Given the description of an element on the screen output the (x, y) to click on. 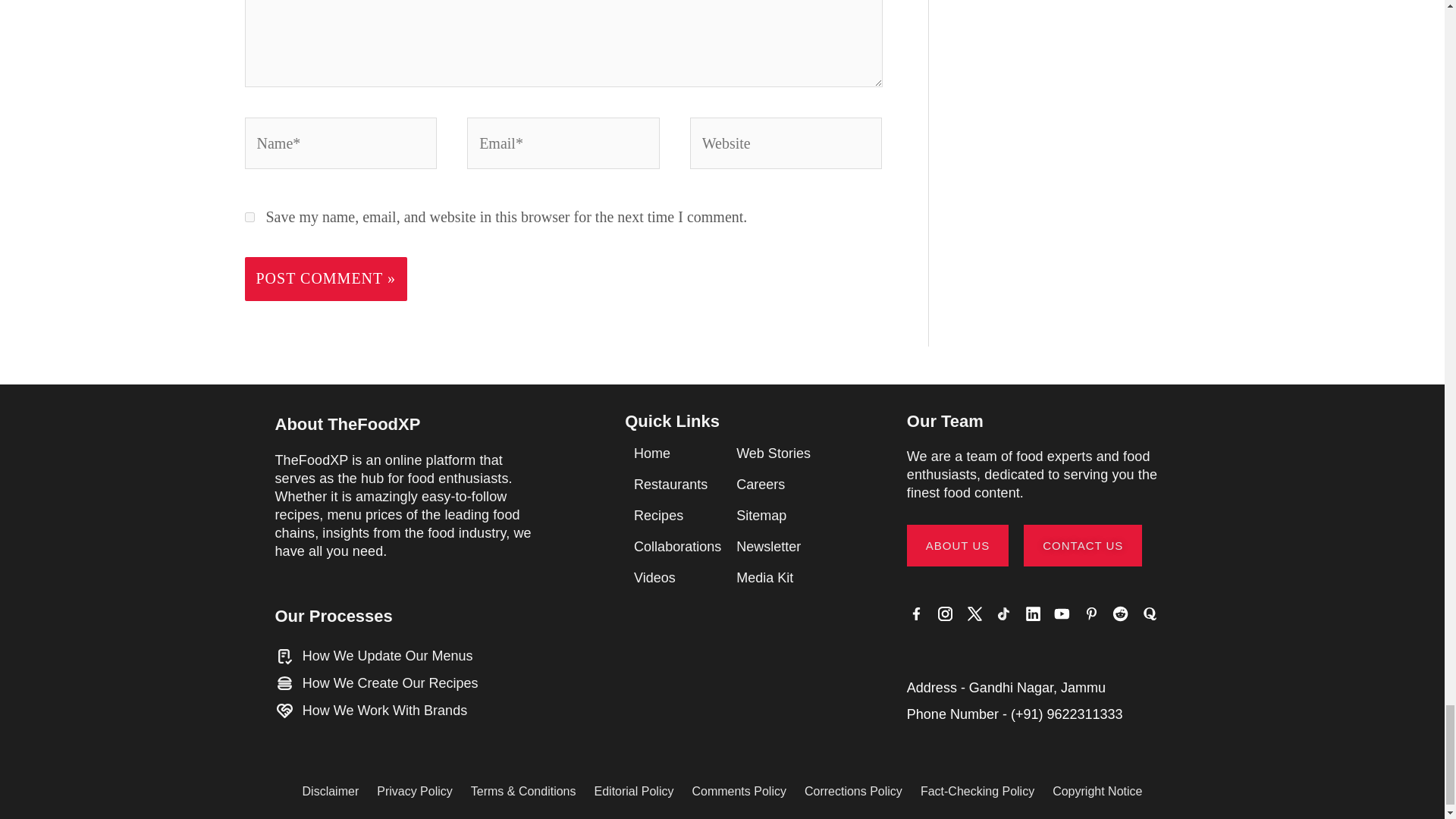
yes (248, 216)
